Given the description of an element on the screen output the (x, y) to click on. 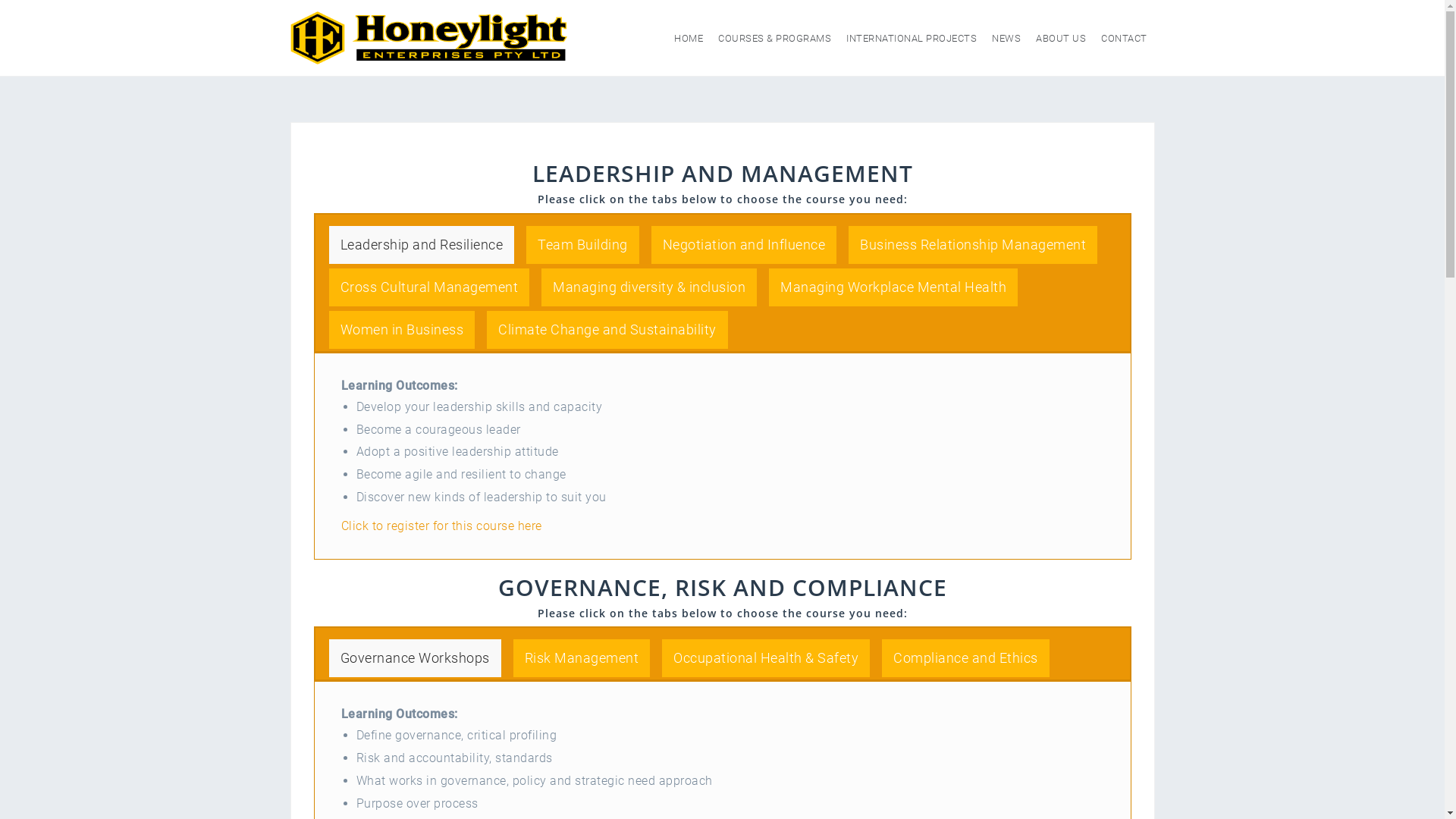
NEWS Element type: text (1005, 38)
INTERNATIONAL PROJECTS Element type: text (911, 38)
ABOUT US Element type: text (1060, 38)
HOME Element type: text (688, 38)
CONTACT Element type: text (1124, 38)
Click to register for this course here Element type: text (441, 525)
Honeylight Enterprises Pty Ltd Element type: hover (427, 37)
COURSES & PROGRAMS Element type: text (774, 38)
